Given the description of an element on the screen output the (x, y) to click on. 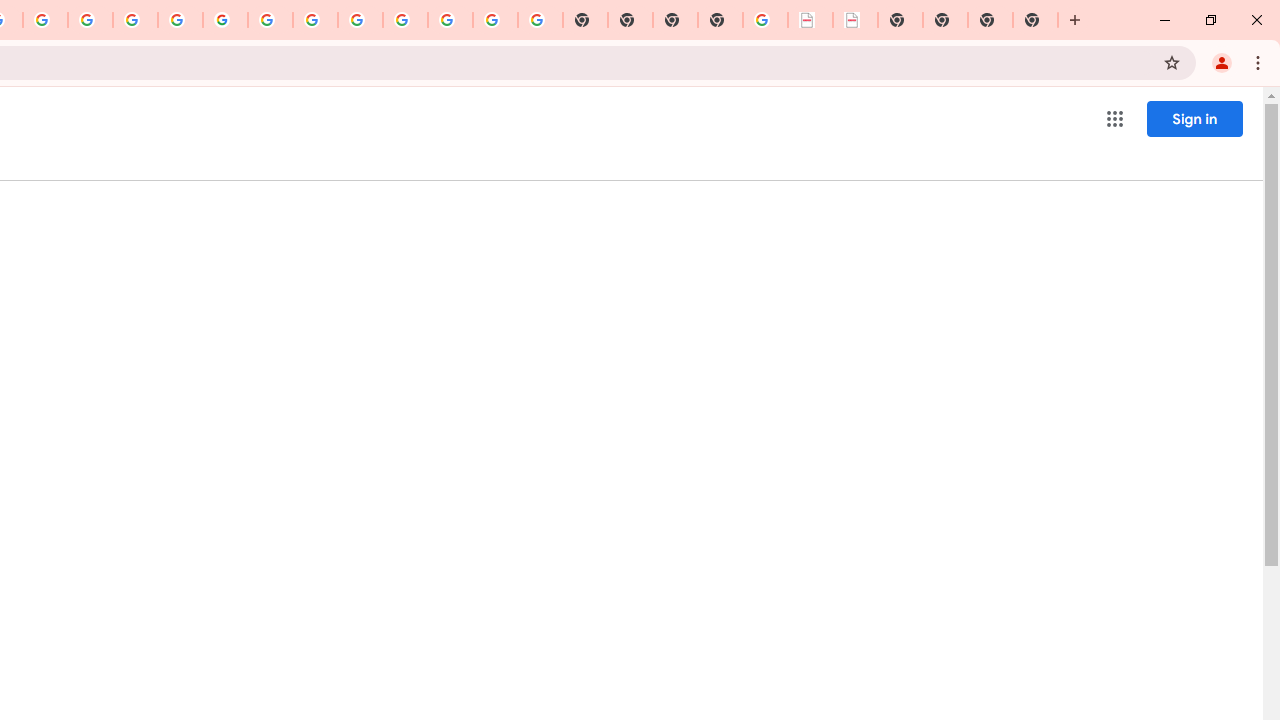
New Tab (1075, 20)
You (1221, 62)
New Tab (720, 20)
New Tab (1035, 20)
Browse Chrome as a guest - Computer - Google Chrome Help (315, 20)
Chrome (1260, 62)
Sign in (1194, 118)
Bookmark this tab (1171, 62)
Restore (1210, 20)
YouTube (270, 20)
